Given the description of an element on the screen output the (x, y) to click on. 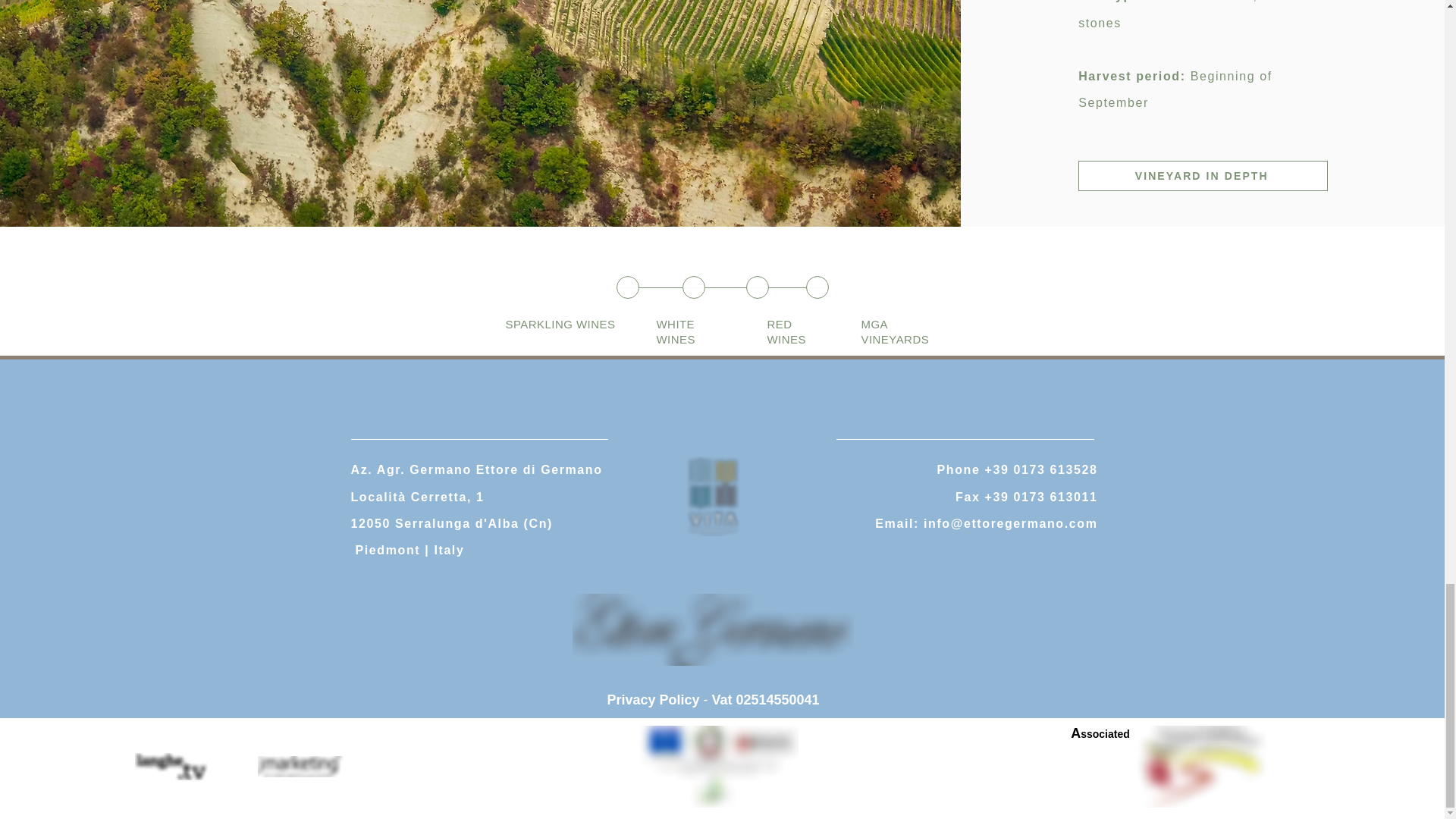
MGA VINEYARDS (895, 331)
RED WINES (786, 331)
logo jmarketing.png (309, 766)
langhe.tv.jpg (171, 766)
WHITE WINES (675, 331)
SPARKLING WINES (559, 323)
VINEYARD IN DEPTH (1202, 175)
Privacy Policy - Vat 02514550041 (712, 699)
